Given the description of an element on the screen output the (x, y) to click on. 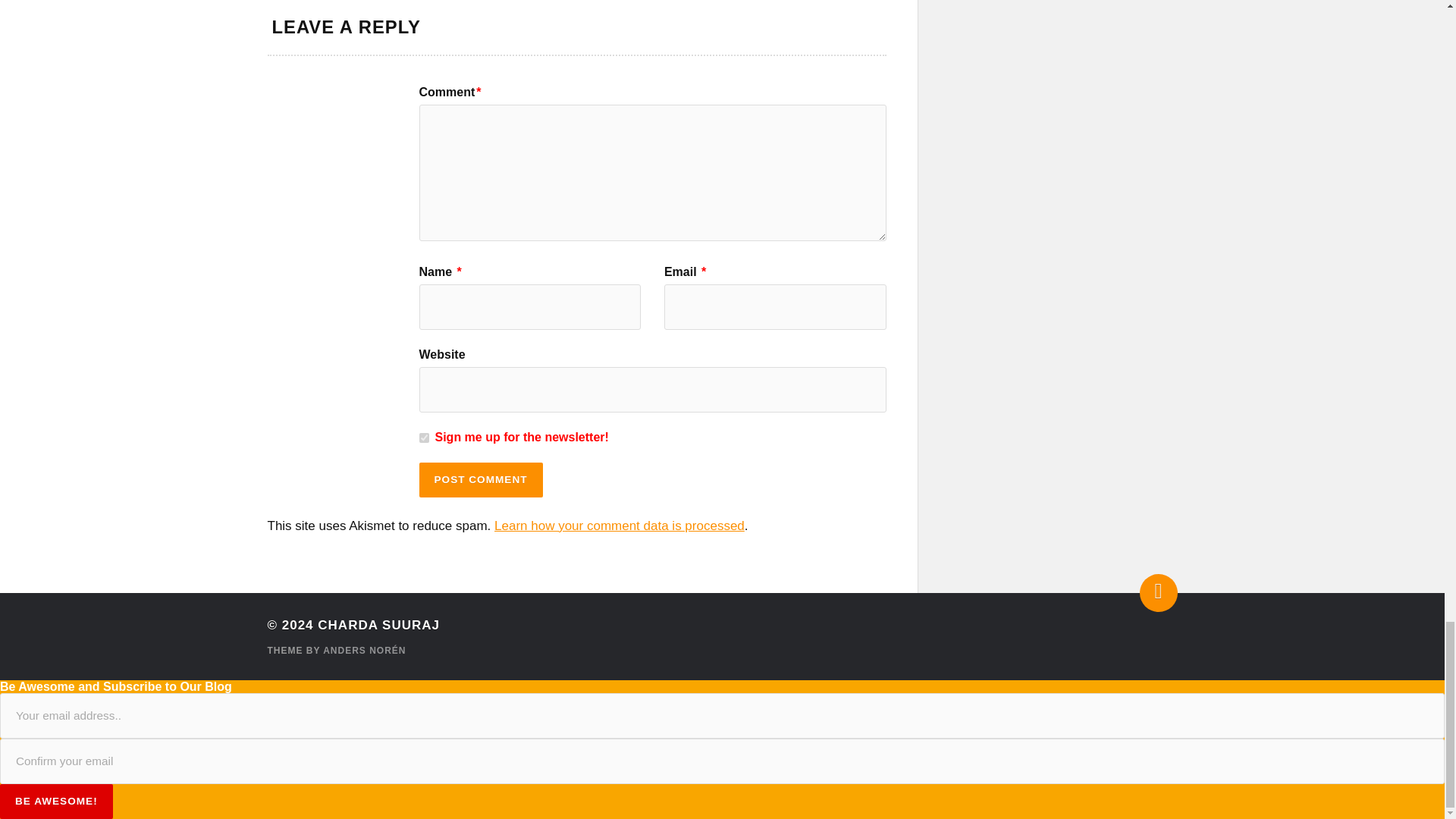
1 (423, 438)
Post Comment (480, 479)
